Given the description of an element on the screen output the (x, y) to click on. 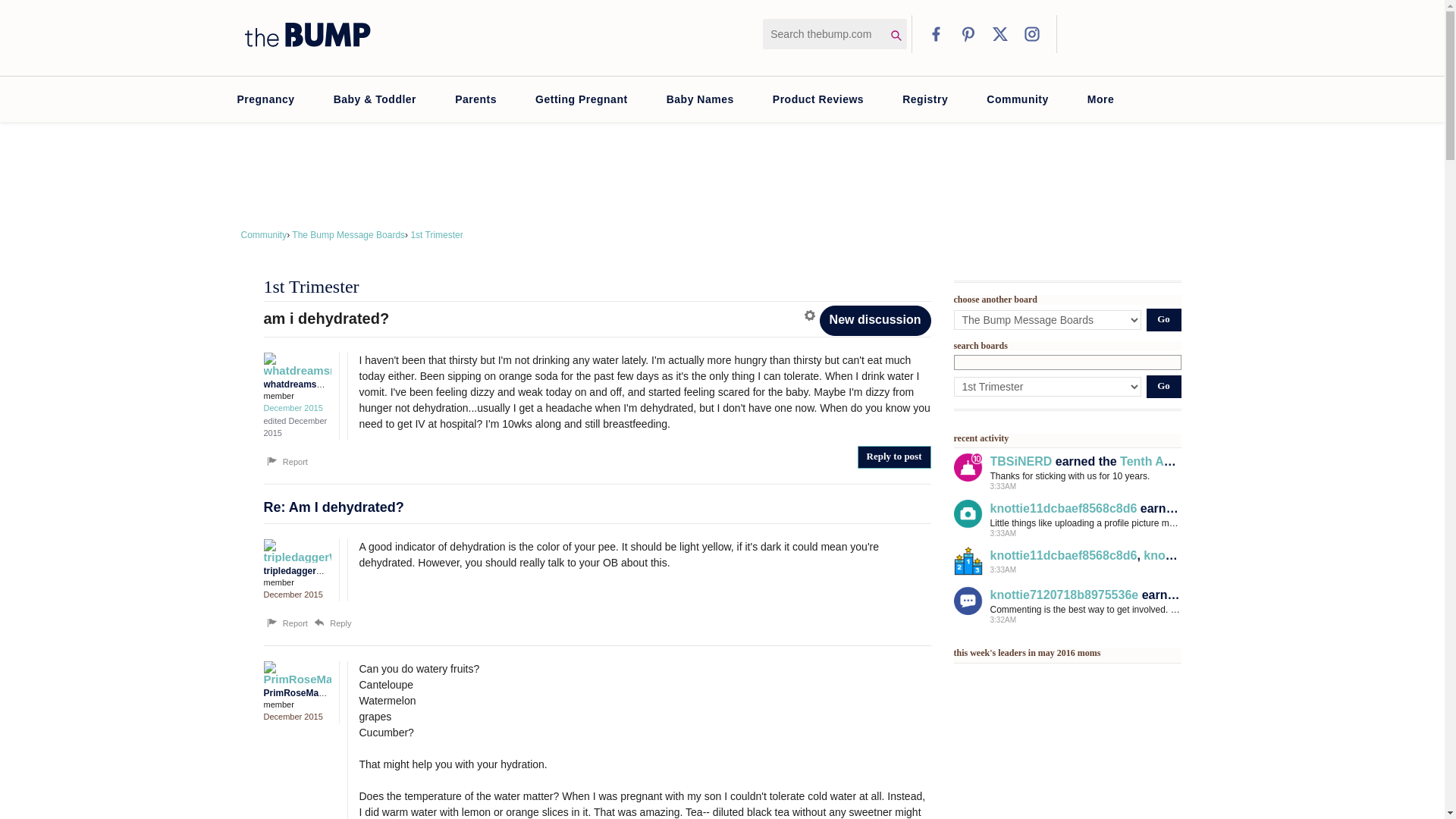
December 29, 2015 10:22PM (293, 716)
member (297, 395)
Options (811, 315)
Go (1163, 386)
tripledaggerWed95976 (293, 550)
Go (1163, 319)
PrimRoseMama (293, 672)
Report (285, 461)
Report (285, 622)
Pregnancy (264, 99)
Edited December 29, 2015 10:02PM by whatdreamsmaycome. (295, 427)
December 29, 2015 10:09PM (293, 593)
member (297, 582)
member (297, 704)
December 29, 2015 10:01PM (293, 407)
